Given the description of an element on the screen output the (x, y) to click on. 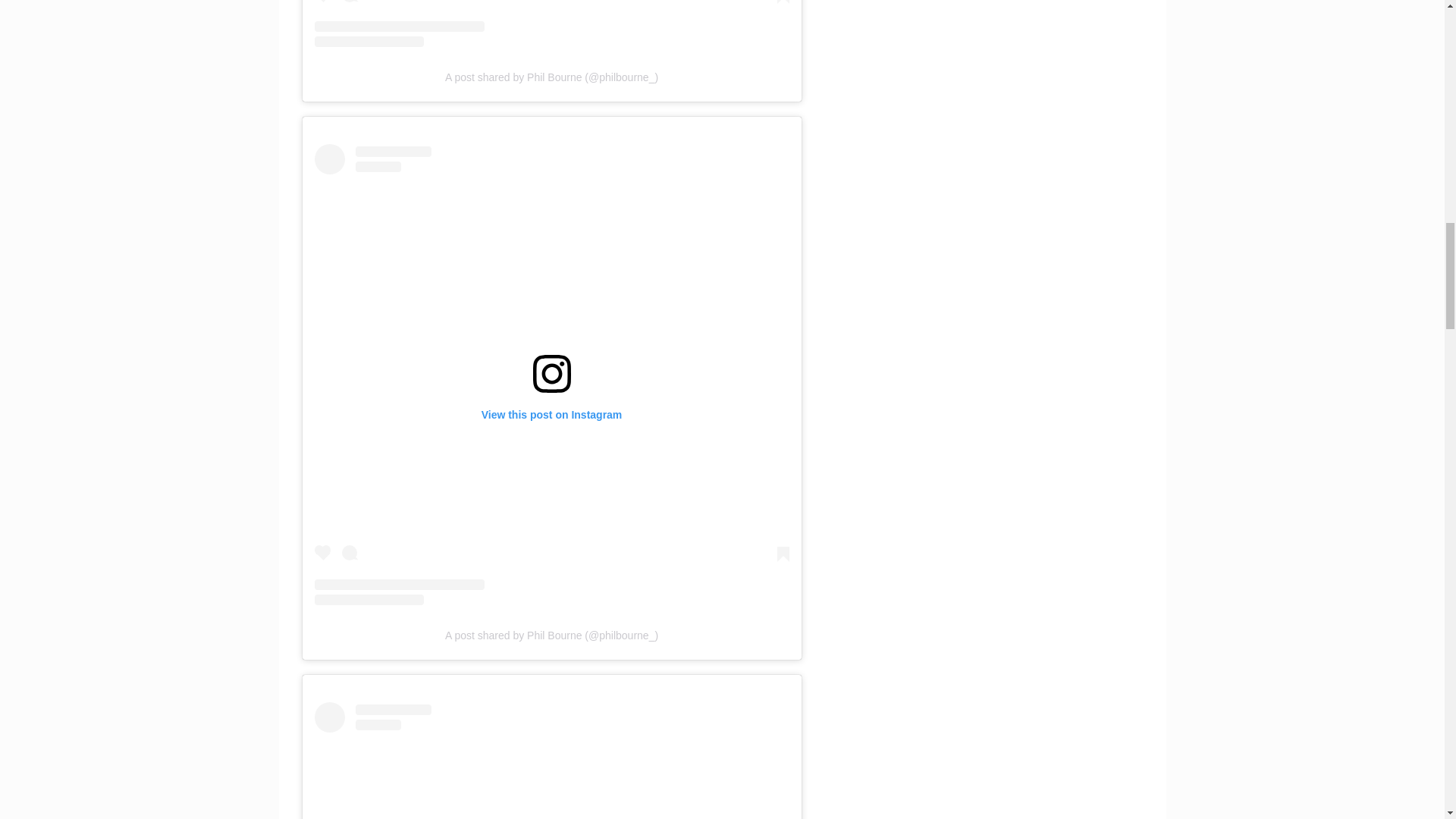
View this post on Instagram (551, 760)
View this post on Instagram (551, 23)
